Given the description of an element on the screen output the (x, y) to click on. 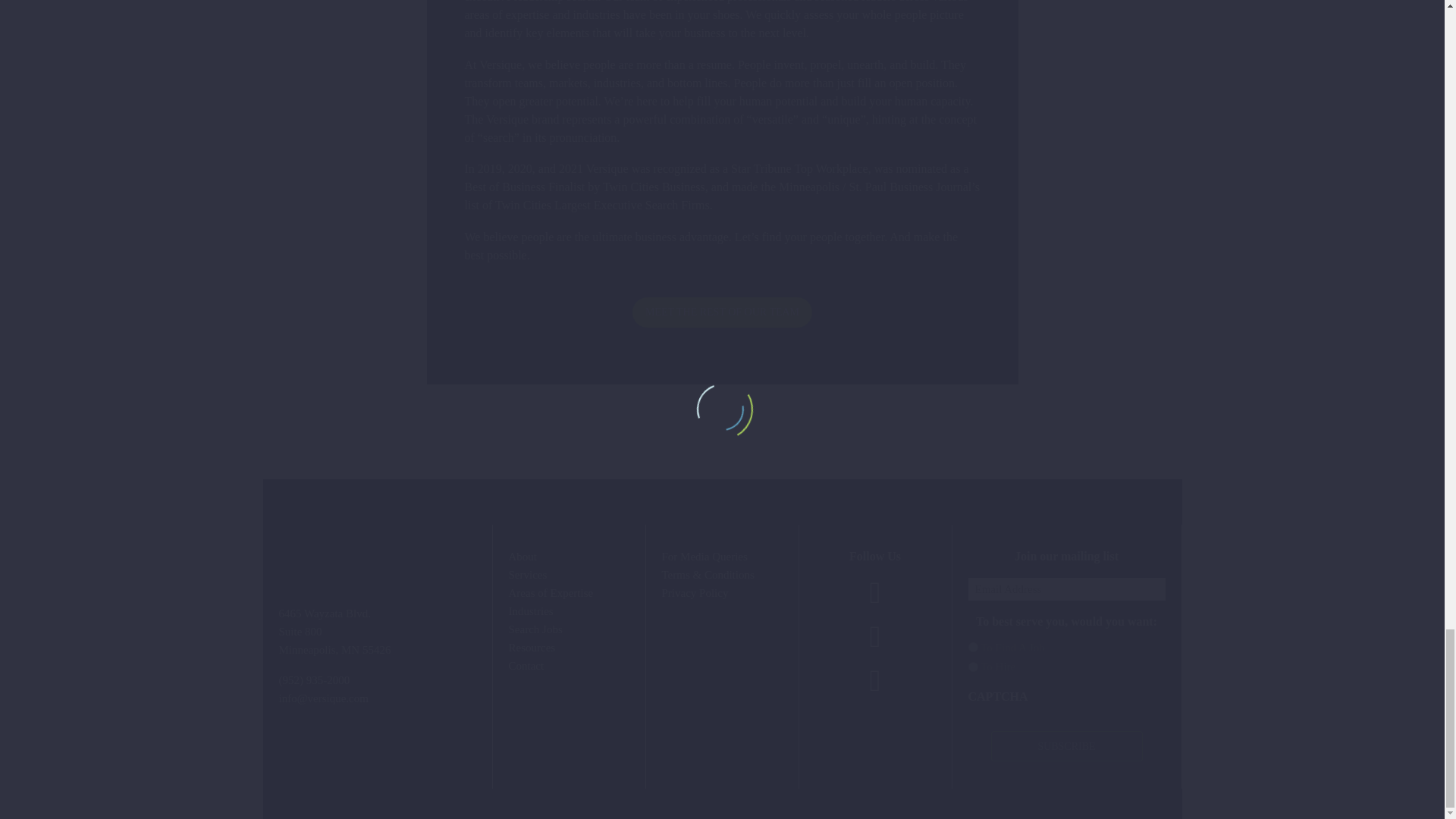
To Find A Job (972, 646)
Subscribe (1065, 746)
To Hire (972, 666)
Versique footer logo (377, 537)
